Given the description of an element on the screen output the (x, y) to click on. 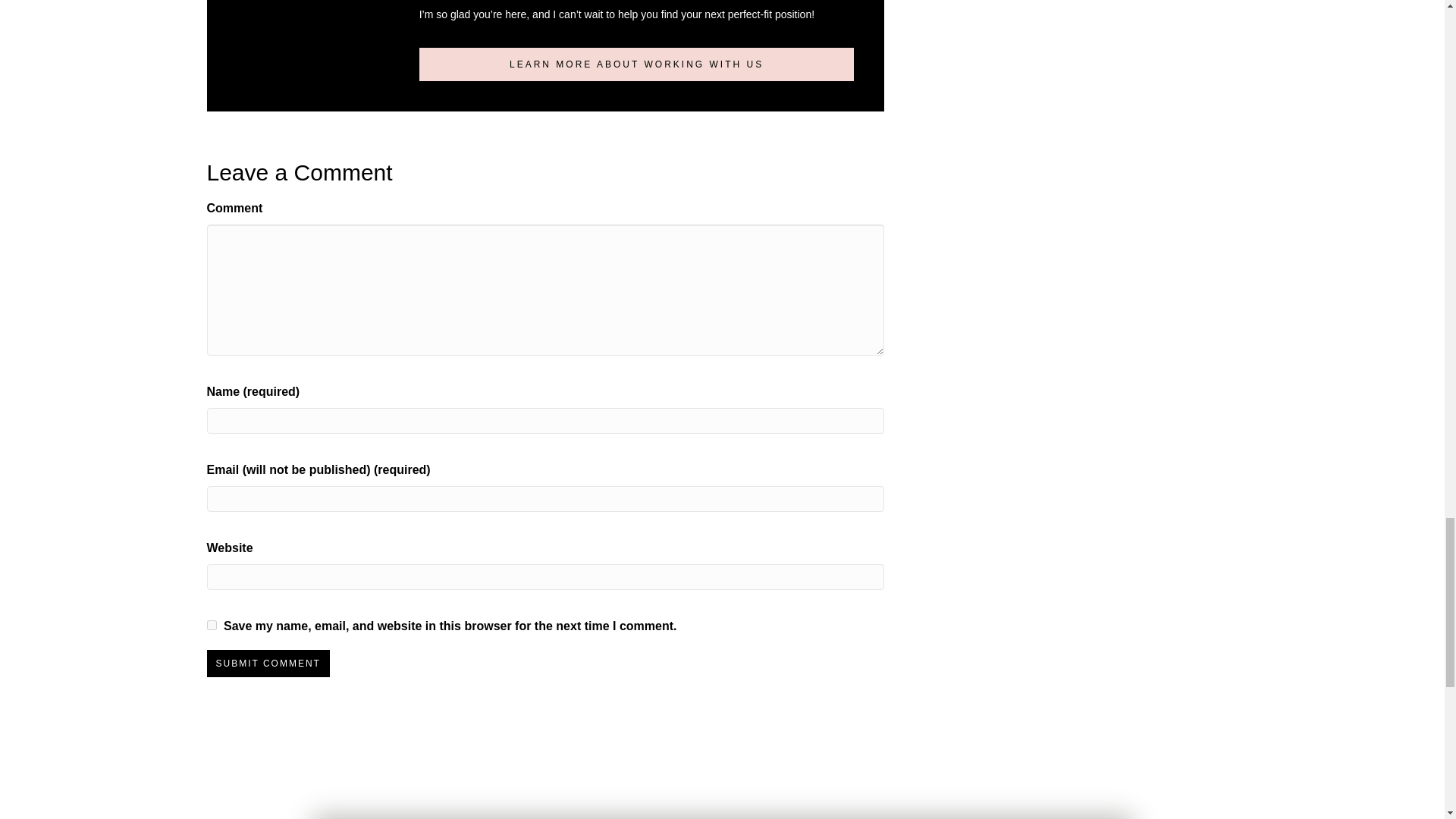
yes (210, 624)
Submit Comment (267, 663)
